Given the description of an element on the screen output the (x, y) to click on. 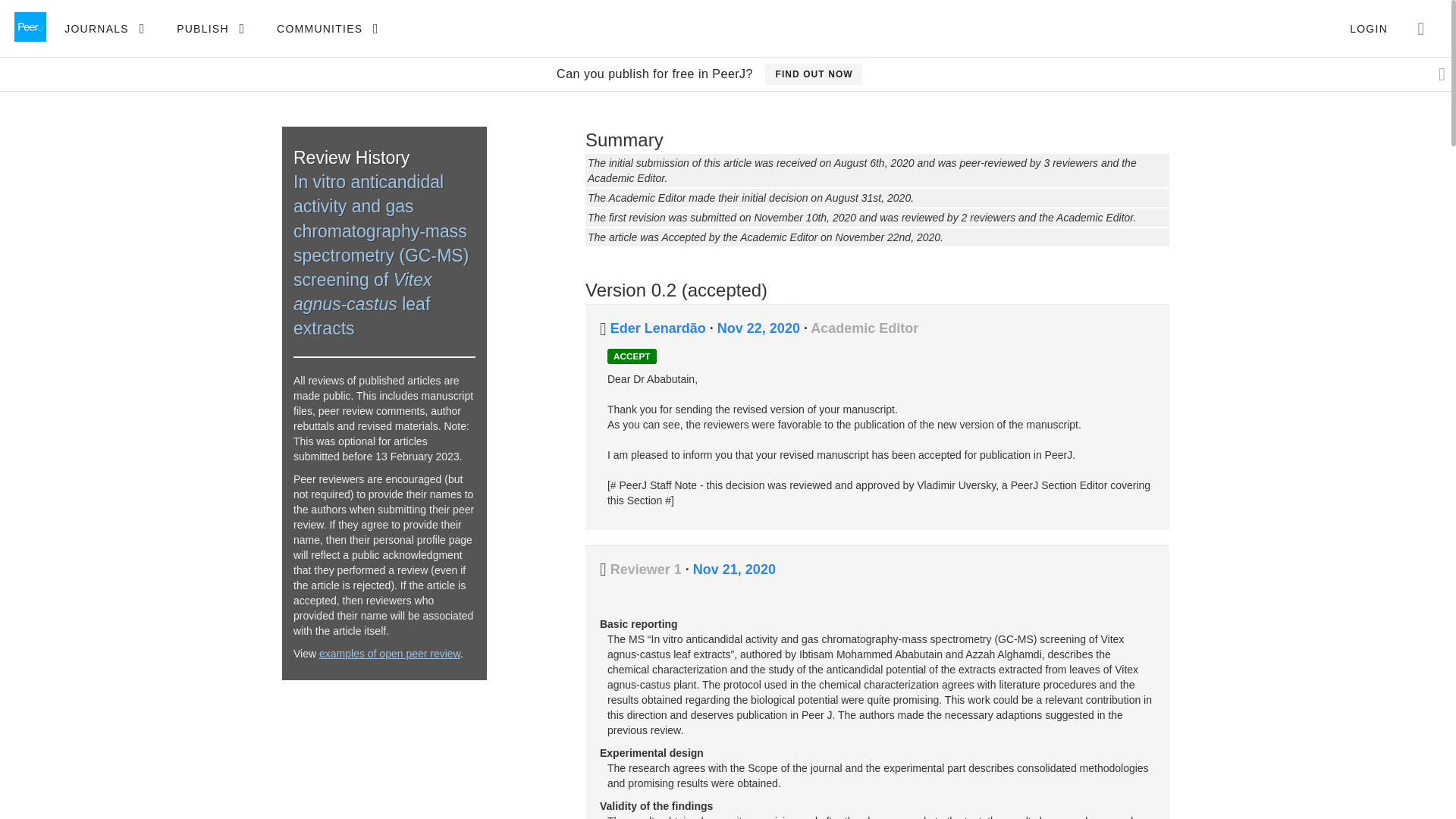
LOGIN (1368, 28)
Permalink for this review (734, 569)
PUBLISH (210, 28)
Nov 22, 2020 (760, 328)
FIND OUT NOW (813, 74)
JOURNALS (104, 28)
examples of open peer review (389, 653)
COMMUNITIES (327, 28)
Nov 21, 2020 (734, 569)
